Given the description of an element on the screen output the (x, y) to click on. 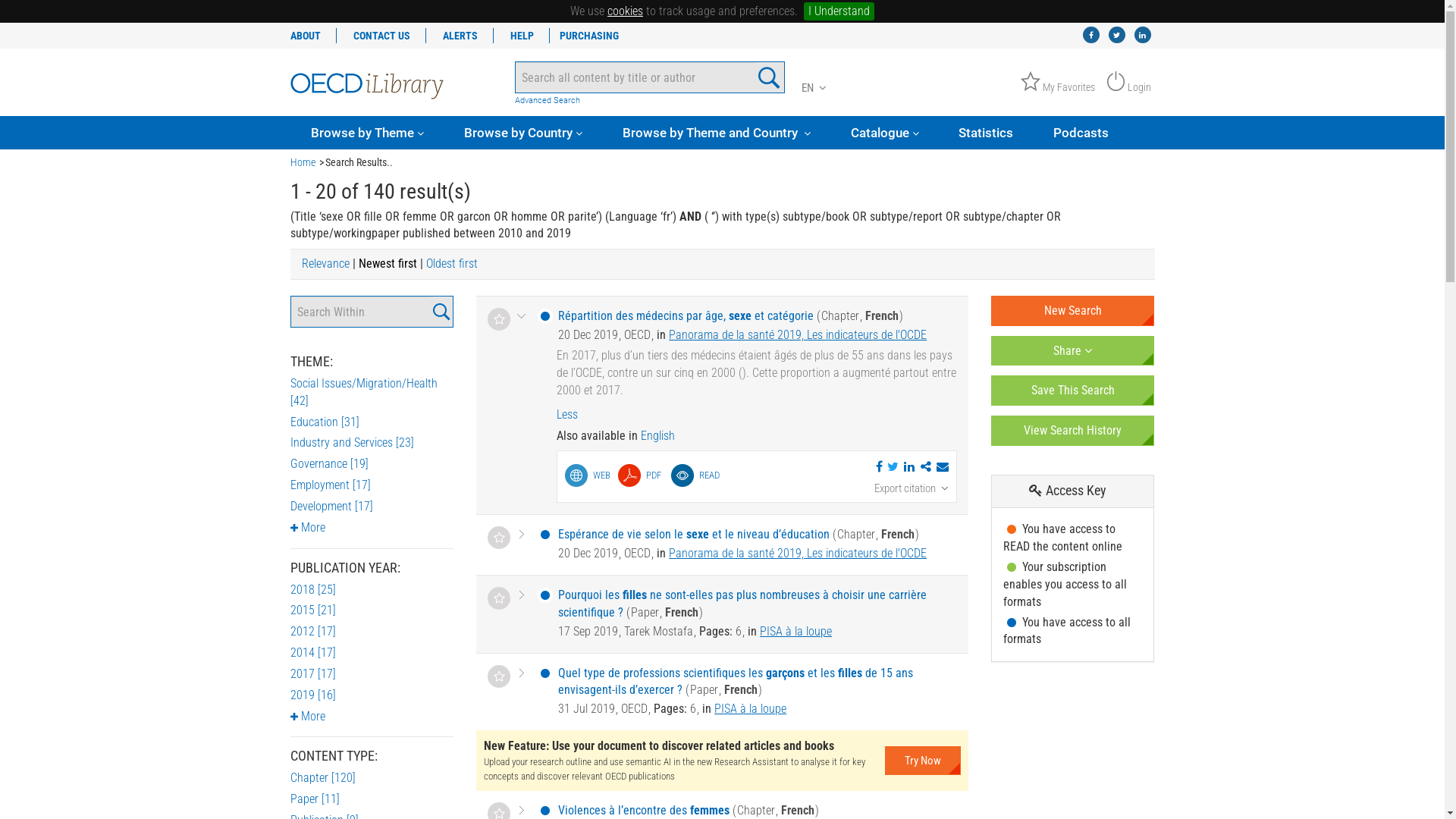
Relevance Element type: text (325, 263)
HELP Element type: text (521, 35)
My Favorites Element type: text (1057, 87)
READ Element type: text (695, 475)
Export citation Element type: text (911, 488)
share via twitter Element type: hover (893, 466)
Advanced Search Element type: text (649, 100)
Paper [11] Element type: text (313, 798)
Employment [17] Element type: text (329, 484)
English Element type: text (657, 435)
More Element type: text (306, 527)
share via facebook Element type: hover (878, 466)
The OECD on Linkedin Element type: hover (1142, 34)
Governance [19] Element type: text (328, 463)
Browse by Theme and Country  Element type: text (716, 132)
Share this content Element type: hover (942, 466)
2019 [16] Element type: text (312, 694)
Chapter [120] Element type: text (321, 777)
The OECD on Facebook Element type: hover (1090, 34)
Browse by Country Element type: text (522, 132)
Catalogue Element type: text (884, 132)
The OECD on Twitter Element type: hover (1116, 34)
PDF Element type: text (639, 475)
2018 [25] Element type: text (312, 589)
Oldest first Element type: text (451, 263)
New Search Element type: text (1072, 310)
Statistics Element type: text (985, 132)
Home Element type: text (301, 162)
ABOUT Element type: text (312, 35)
I Understand Element type: text (838, 11)
Less Element type: text (756, 414)
OECD iLibrary - Click to go to home page Element type: hover (367, 84)
2014 [17] Element type: text (312, 652)
Industry and Services [23] Element type: text (351, 442)
2012 [17] Element type: text (312, 631)
Save This Search Element type: text (1072, 390)
More Element type: text (306, 716)
Education [31] Element type: text (323, 421)
Browse by Theme Element type: text (367, 132)
Login Element type: text (1128, 87)
ALERTS Element type: text (460, 35)
cookies Element type: text (625, 10)
PURCHASING Element type: text (589, 35)
2015 [21] Element type: text (312, 609)
Podcasts Element type: text (1080, 132)
Development [17] Element type: text (330, 505)
EN Element type: text (813, 88)
Share Element type: text (1072, 350)
WEB Element type: text (587, 475)
share options other Element type: hover (925, 466)
Try Now Element type: text (922, 760)
CONTACT US Element type: text (382, 35)
View Search History Element type: text (1072, 430)
share via linkedIn Element type: hover (908, 466)
2017 [17] Element type: text (312, 673)
Social Issues/Migration/Health [42] Element type: text (362, 391)
